Given the description of an element on the screen output the (x, y) to click on. 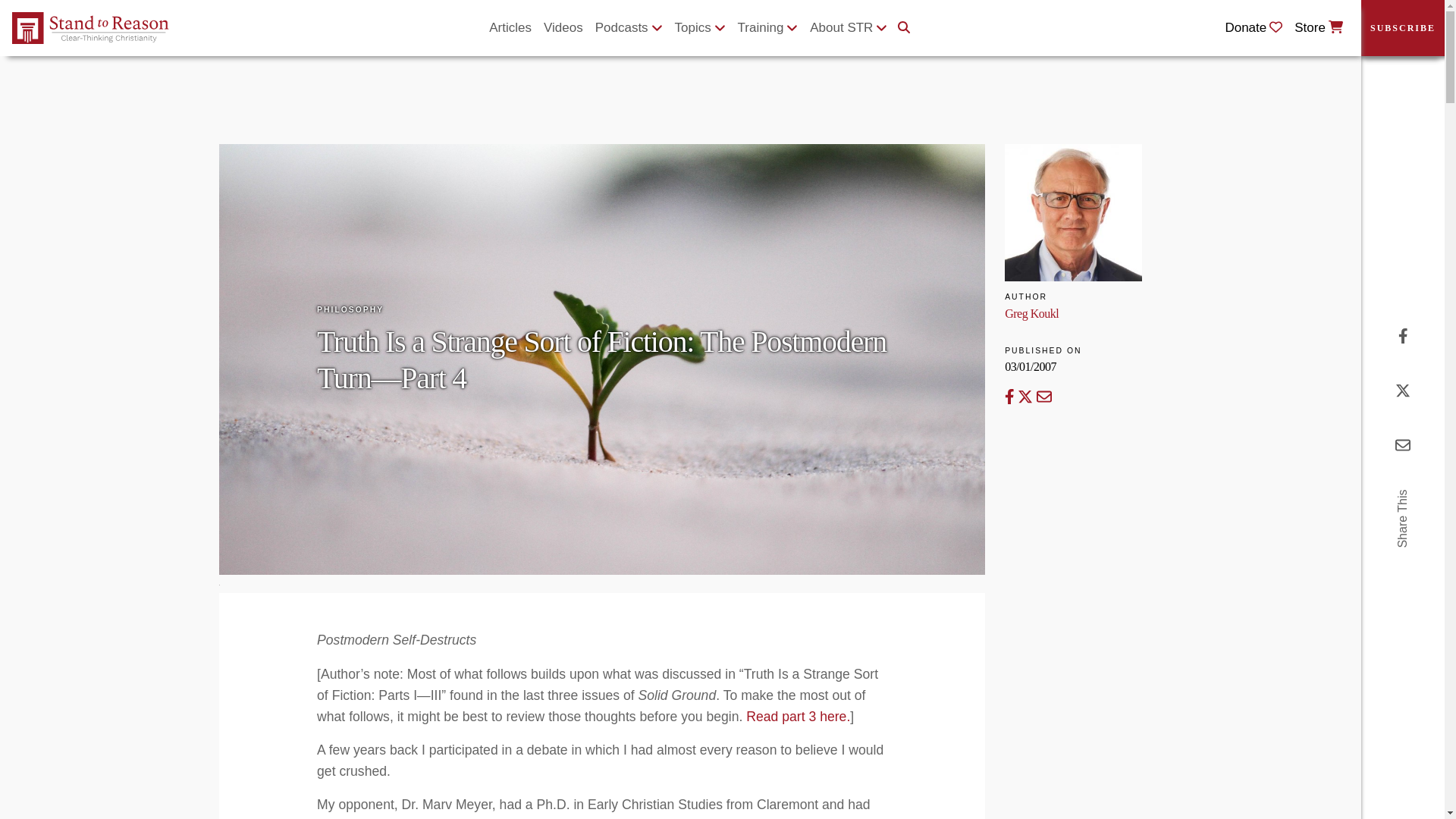
Articles (510, 28)
Videos (563, 28)
About STR (848, 28)
Training (768, 28)
Podcasts (628, 28)
Topics (700, 28)
